Given the description of an element on the screen output the (x, y) to click on. 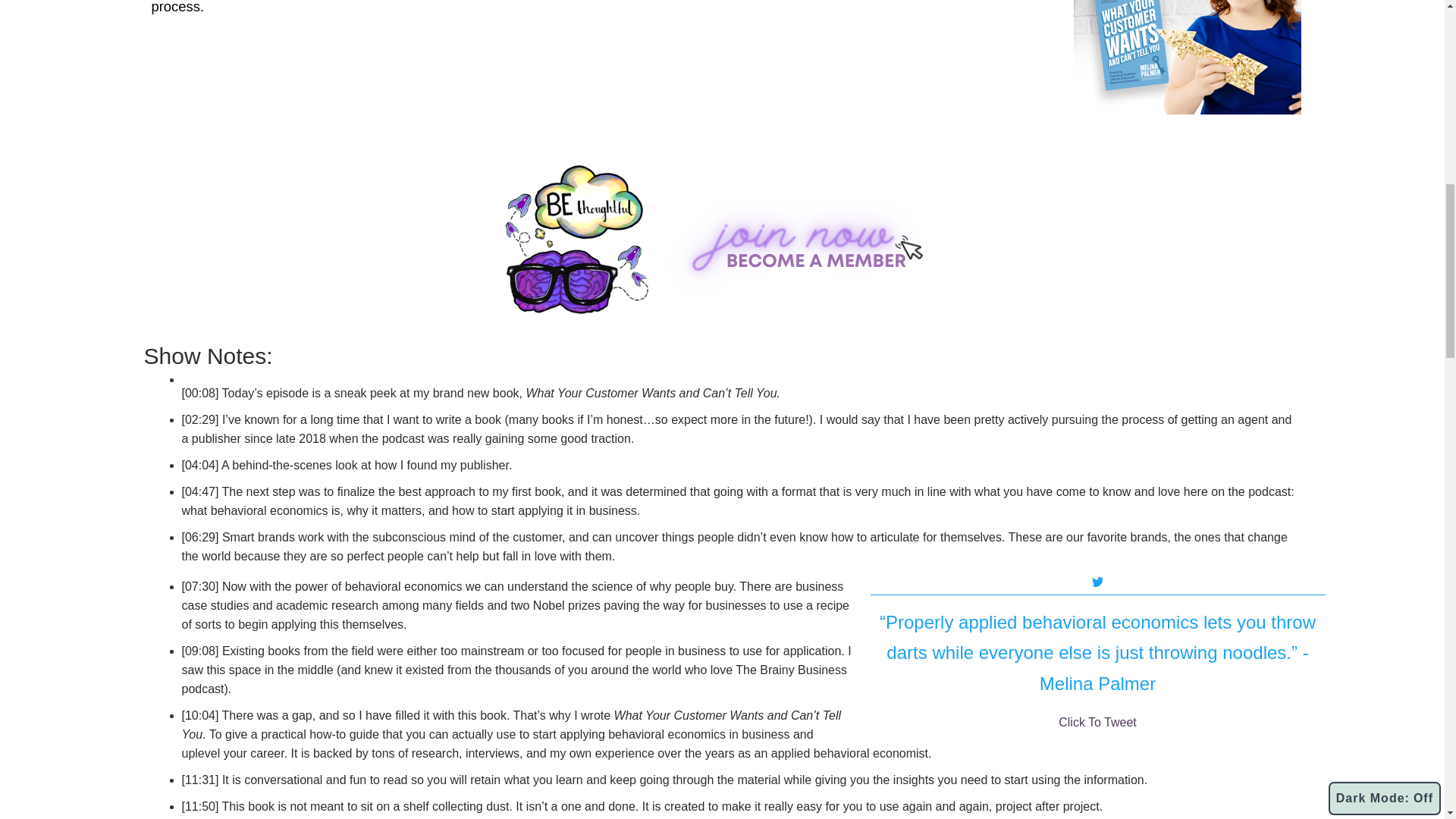
Click To Tweet (1097, 721)
